Given the description of an element on the screen output the (x, y) to click on. 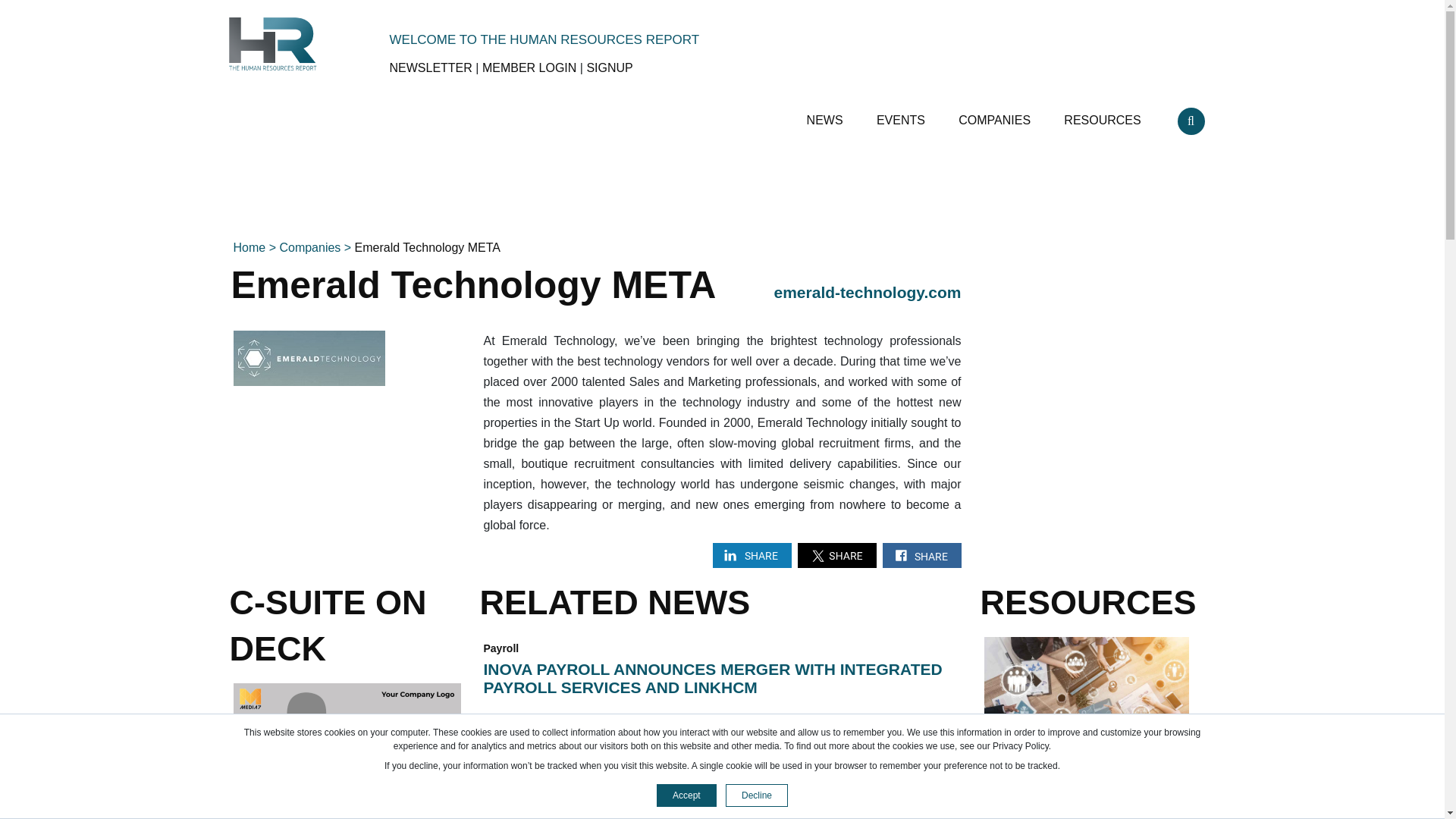
SIGNUP (608, 67)
Advertisement (1094, 360)
RESOURCES (1104, 113)
EVENTS (901, 113)
Advertisement (721, 191)
NEWS (825, 113)
NEWSLETTER (430, 67)
MEMBER LOGIN (528, 67)
COMPANIES (996, 113)
